Given the description of an element on the screen output the (x, y) to click on. 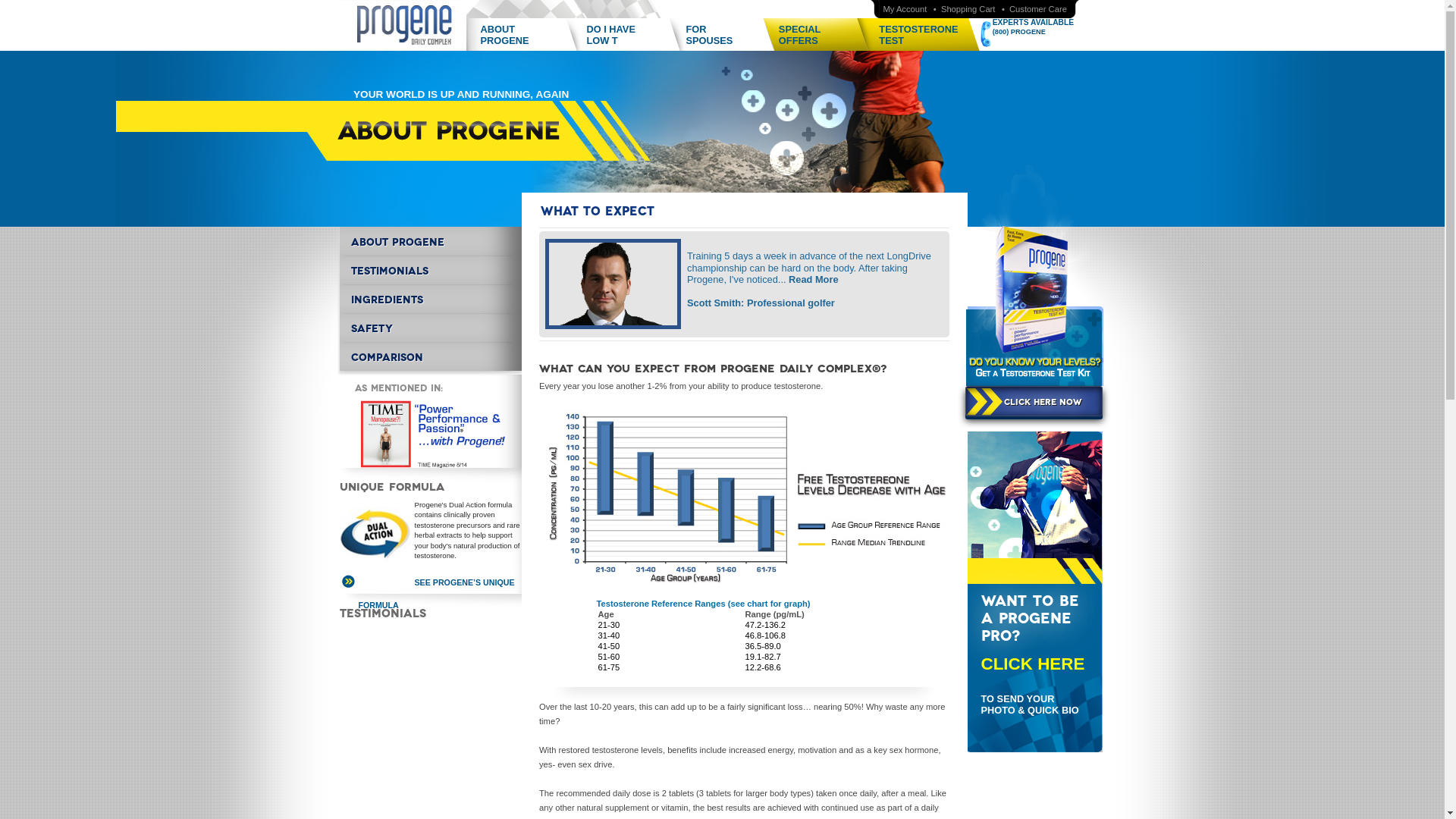
SAFETY (430, 327)
ABOUT PROGENE (723, 37)
COMPARISON (430, 240)
INGREDIENTS (624, 37)
CLICK HERE (430, 356)
My Account (430, 298)
PROGENE (1032, 664)
TESTIMONIALS (816, 37)
Read More (905, 9)
CLICK HERE NOW (917, 37)
